Given the description of an element on the screen output the (x, y) to click on. 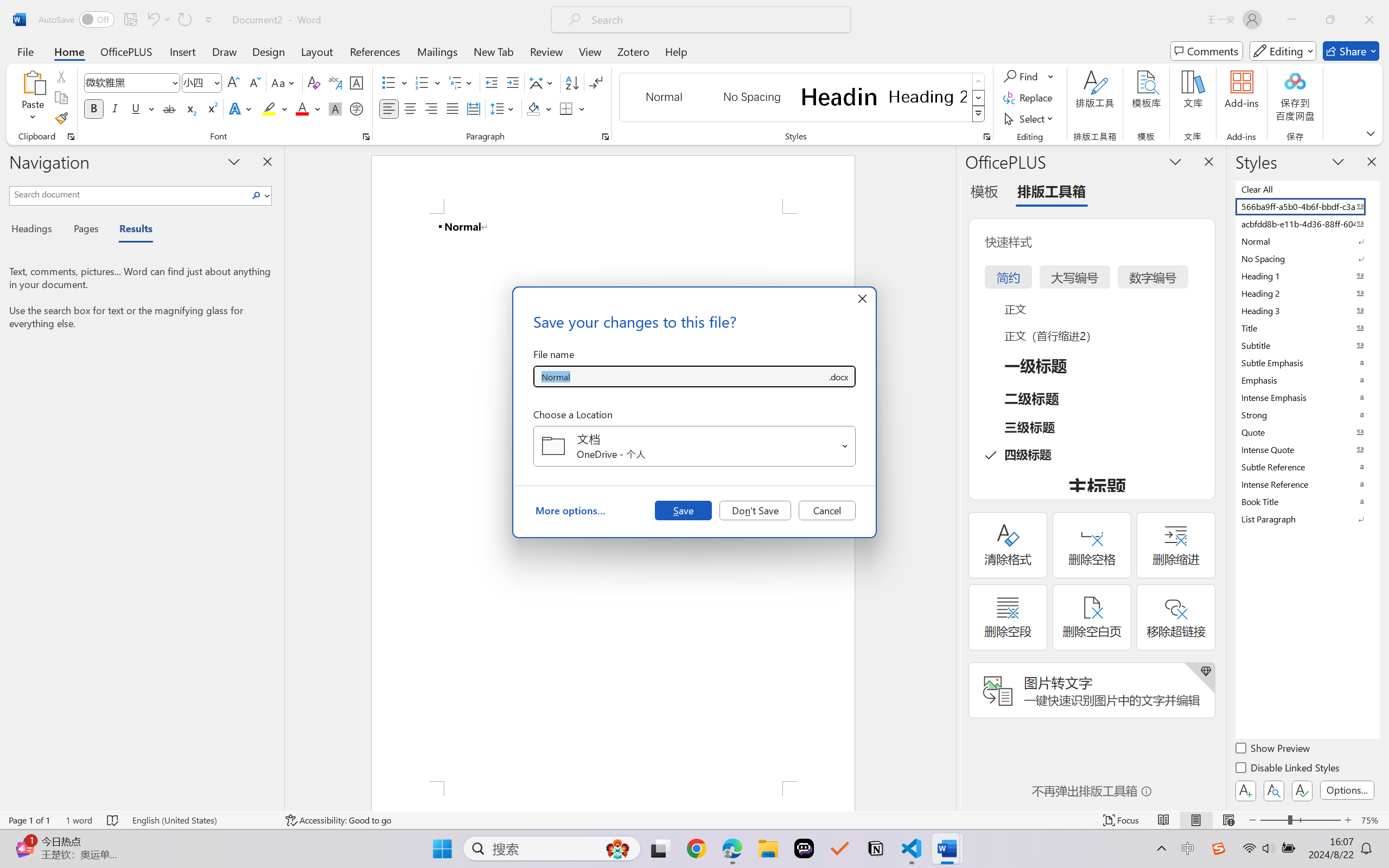
Class: NetUIScrollBar (948, 477)
Class: Image (1218, 847)
Save (682, 509)
Show/Hide Editing Marks (595, 82)
List Paragraph (1306, 518)
Intense Emphasis (1306, 397)
Find (1029, 75)
Spelling and Grammar Check No Errors (113, 819)
Shading (539, 108)
Subtle Emphasis (1306, 362)
Google Chrome (696, 848)
Show Preview (1273, 749)
Select (1030, 118)
